Given the description of an element on the screen output the (x, y) to click on. 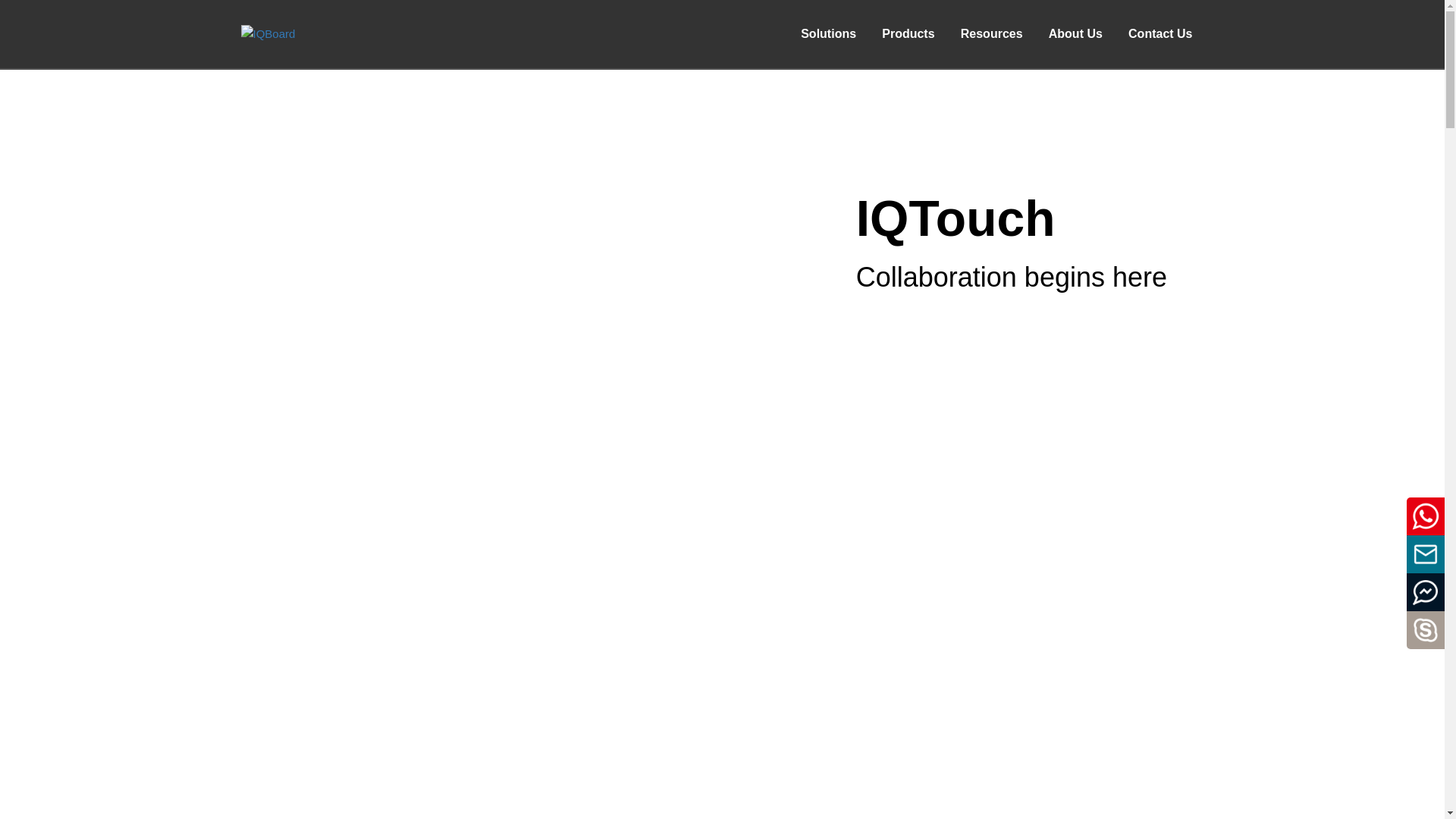
Products (907, 33)
Solutions (828, 33)
